Given the description of an element on the screen output the (x, y) to click on. 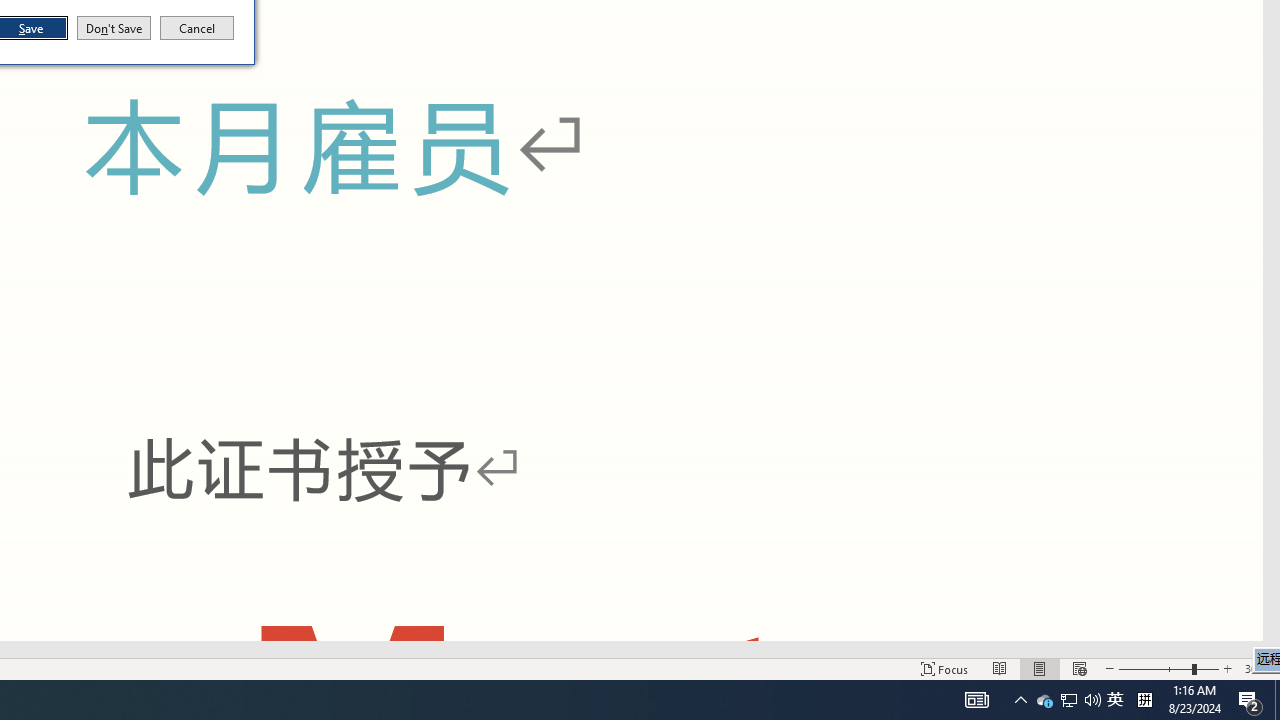
Cancel (197, 27)
Zoom 308% (1258, 668)
